Given the description of an element on the screen output the (x, y) to click on. 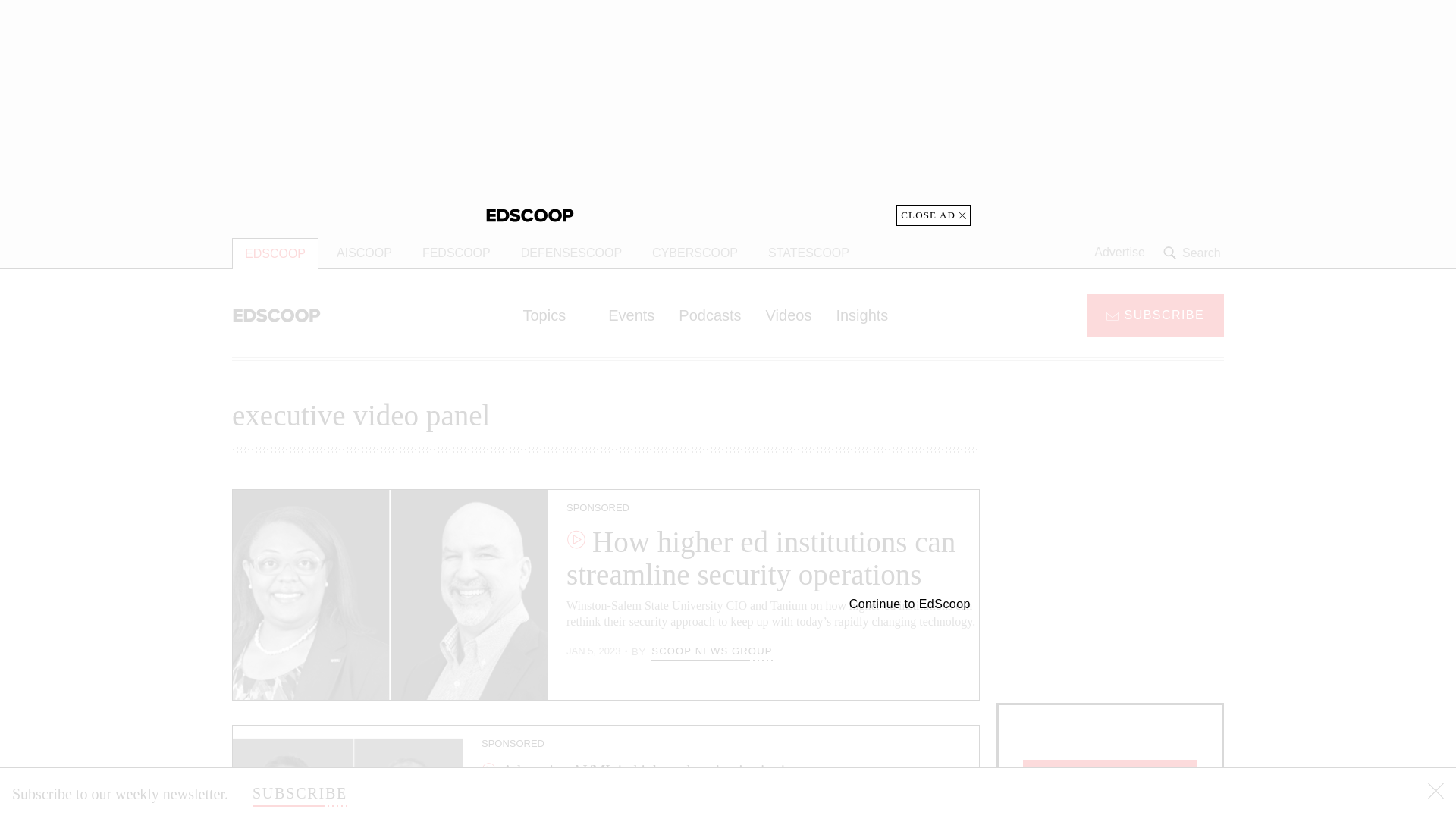
SCOOP NEWS GROUP (710, 650)
CYBERSCOOP (694, 253)
DEFENSESCOOP (570, 253)
Insights (861, 315)
SUBSCRIBE (299, 793)
Topics (553, 315)
Videos (789, 315)
Search (1193, 252)
Events (630, 315)
STATESCOOP (808, 253)
AISCOOP (364, 253)
3rd party ad content (727, 112)
EDSCOOP (274, 253)
